Given the description of an element on the screen output the (x, y) to click on. 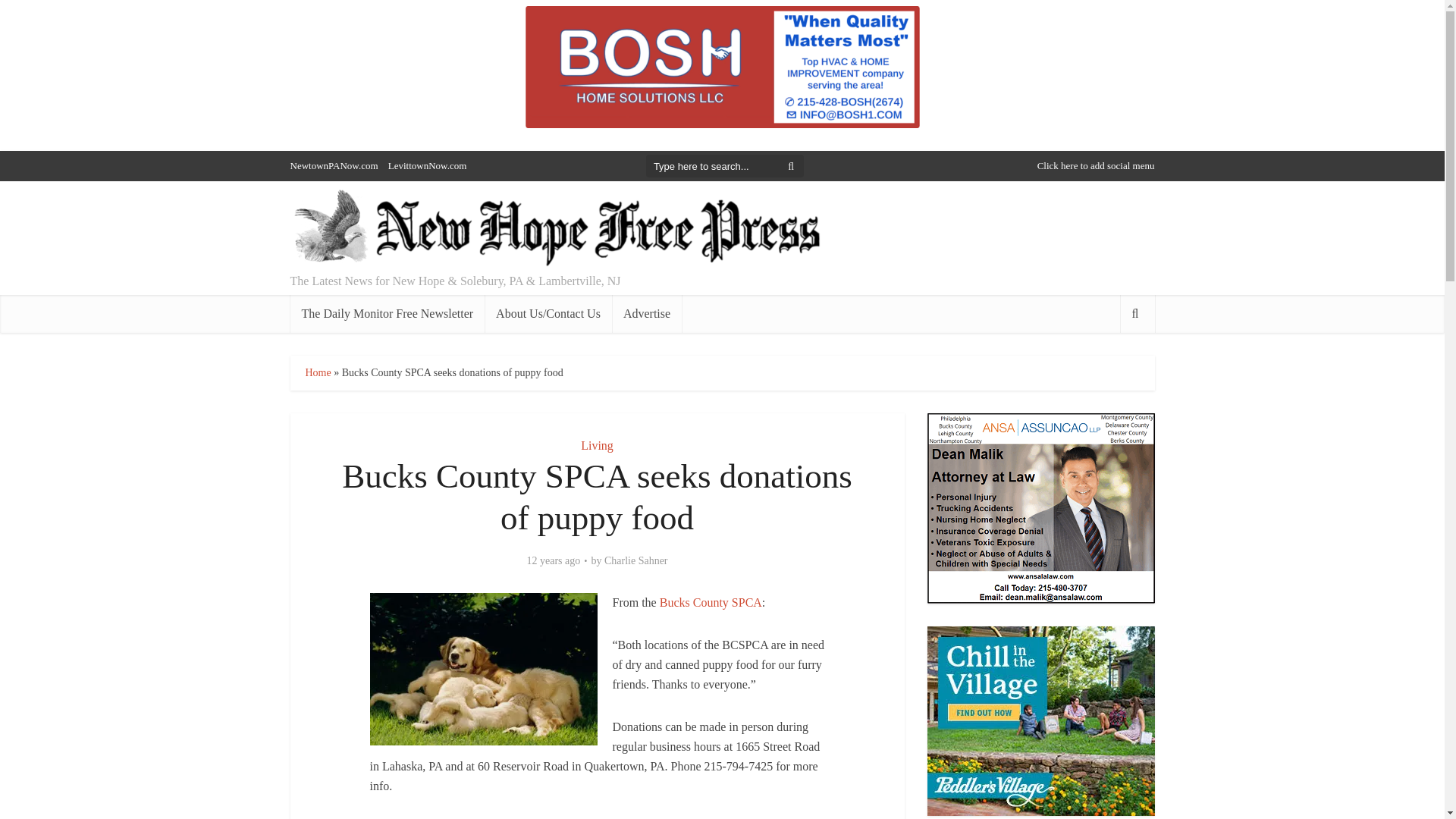
Living (596, 445)
New Hope Free Press (555, 228)
Home (317, 372)
Bucks County SPCA (710, 602)
puppies (482, 668)
Click here to add social menu (1095, 165)
NewtownPANow.com (333, 165)
Type here to search... (724, 165)
The Daily Monitor Free Newsletter (386, 313)
Advertise (646, 313)
LevittownNow.com (427, 165)
Charlie Sahner (636, 561)
Type here to search... (724, 165)
